Given the description of an element on the screen output the (x, y) to click on. 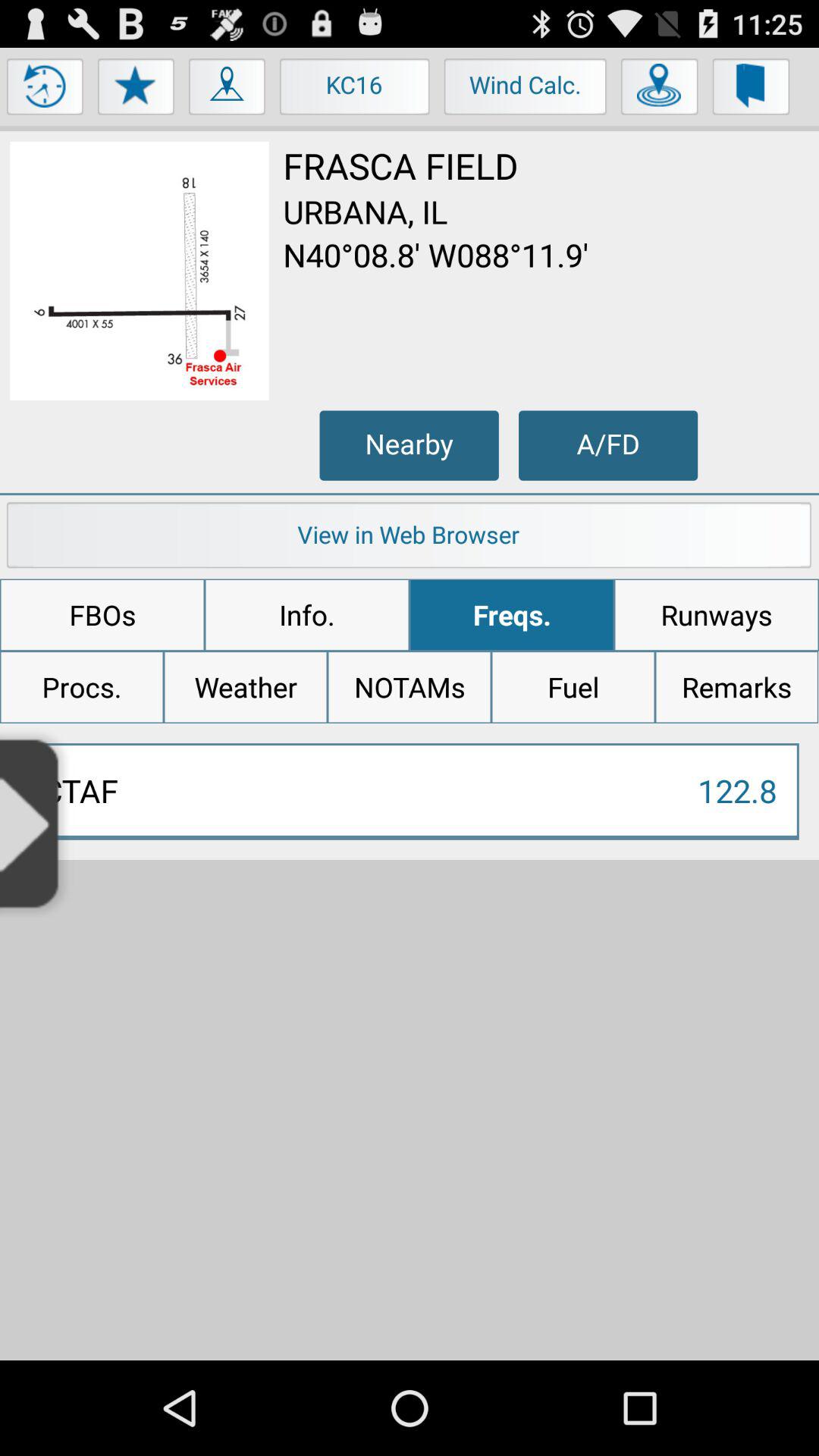
turn on nearby (408, 445)
